Given the description of an element on the screen output the (x, y) to click on. 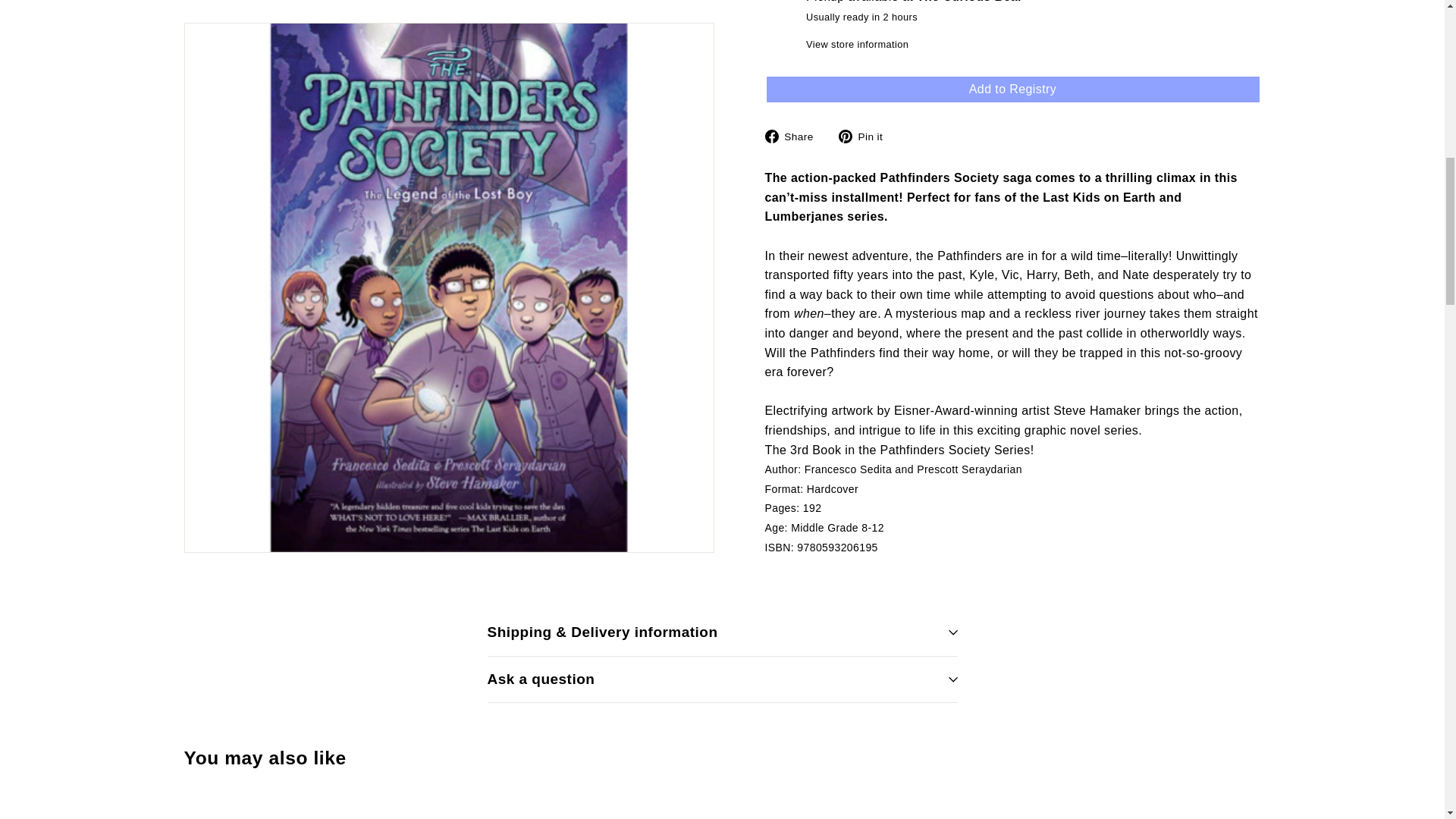
Share on Facebook (794, 136)
Pin on Pinterest (865, 136)
